Given the description of an element on the screen output the (x, y) to click on. 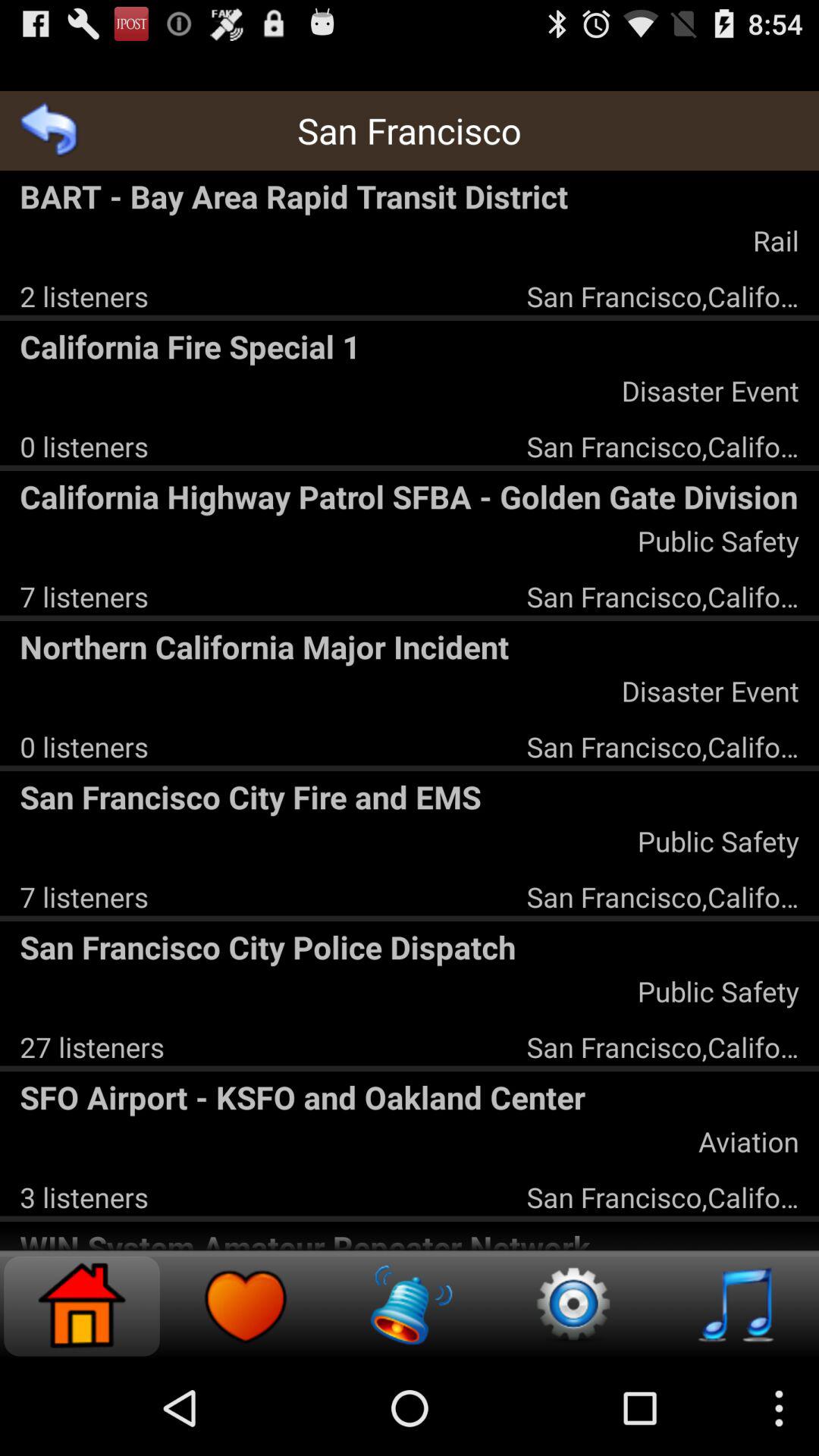
press the icon below the san francisco city (91, 1046)
